Given the description of an element on the screen output the (x, y) to click on. 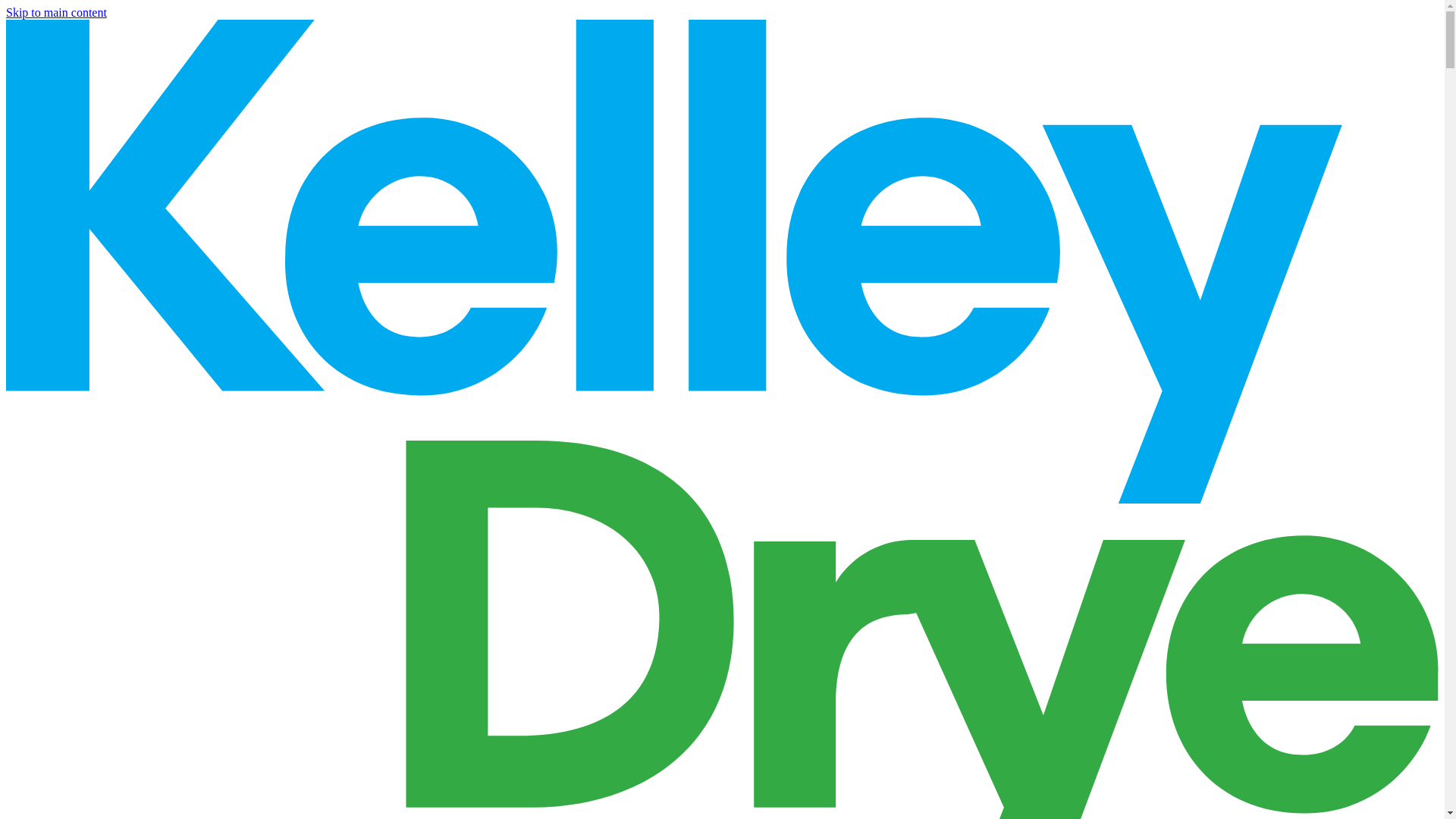
Skip to main content (55, 11)
